Given the description of an element on the screen output the (x, y) to click on. 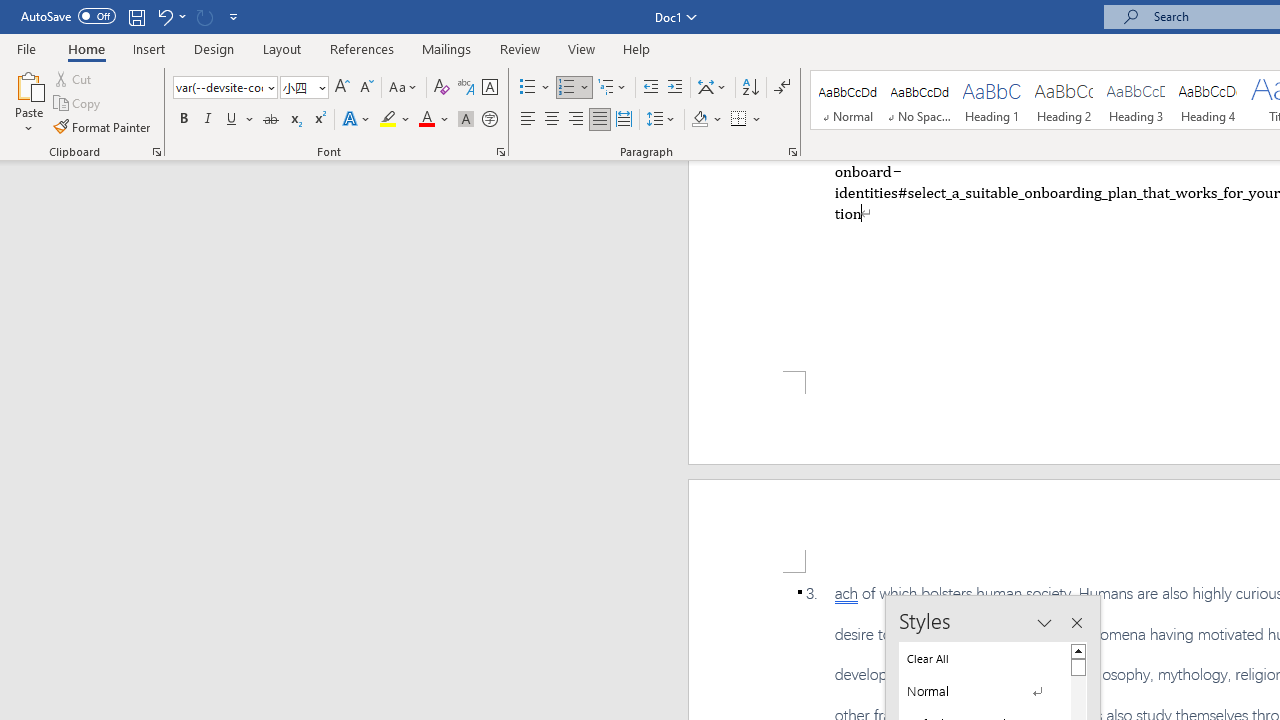
Font (224, 87)
File Tab (26, 48)
Distributed (623, 119)
Underline (239, 119)
Font Size (297, 87)
Shading (706, 119)
Can't Repeat (204, 15)
References (362, 48)
Font (218, 87)
Paragraph... (792, 151)
Italic (207, 119)
Undo Apply Quick Style (170, 15)
Office Clipboard... (156, 151)
Font... (500, 151)
Class: NetUIImage (971, 691)
